Given the description of an element on the screen output the (x, y) to click on. 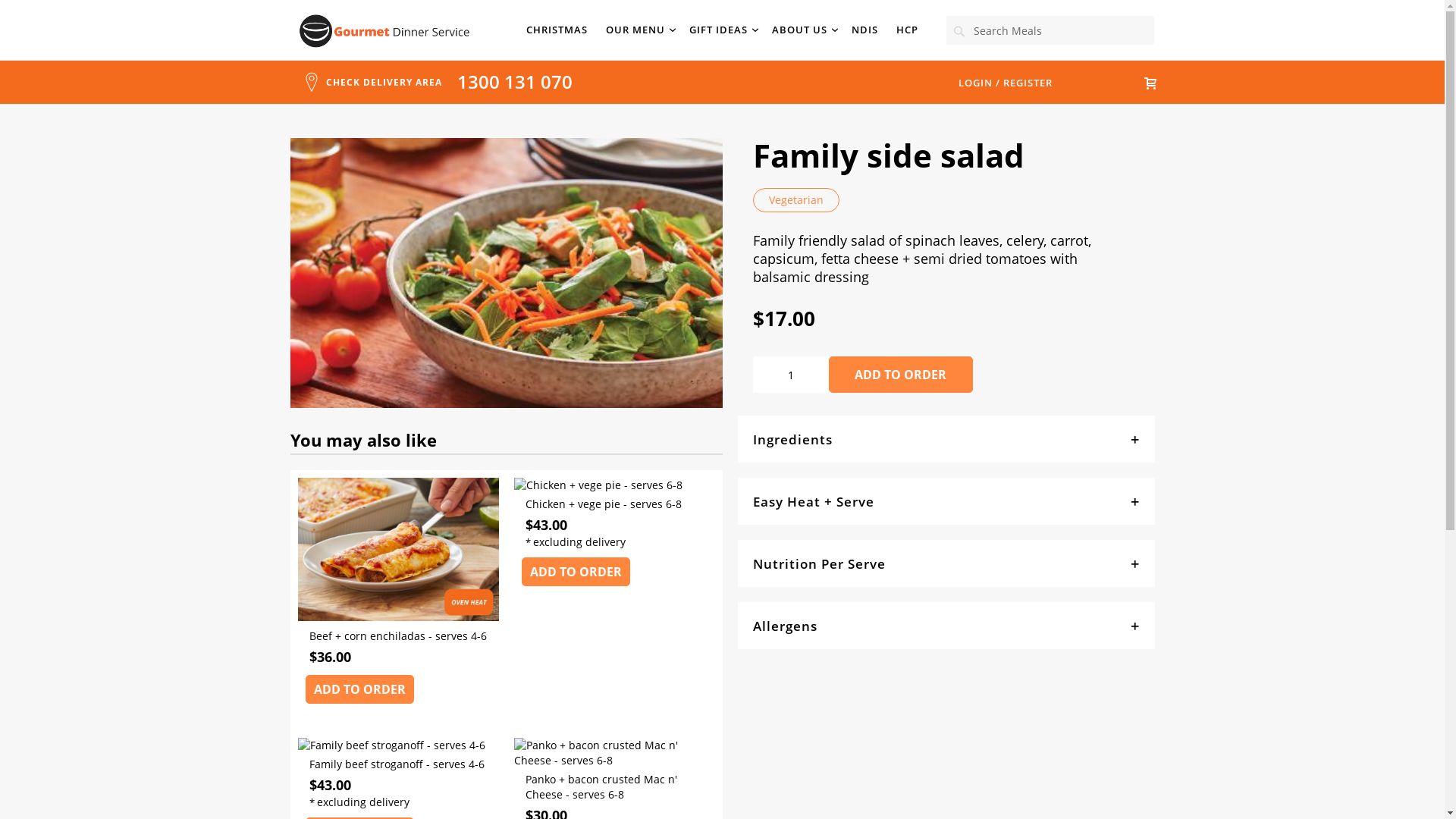
ADD TO ORDER Element type: text (358, 688)
ADD TO ORDER Element type: text (900, 374)
1300 131 070 Element type: text (513, 81)
Chicken + vege pie - serves 6-8 Element type: text (614, 513)
OUR MENU Element type: text (638, 30)
Chicken + vege pie - serves 6-8 Element type: hover (598, 484)
ADD TO ORDER Element type: text (575, 571)
Family beef stroganoff - serves 4-6 Element type: hover (390, 744)
Search Element type: text (959, 30)
Qty Element type: hover (790, 374)
Beef + corn enchiladas - serves 4-6 Element type: text (397, 645)
ABOUT US Element type: text (802, 30)
HCP Element type: text (907, 30)
GIFT IDEAS Element type: text (721, 30)
LOGIN / REGISTER Element type: text (1005, 82)
Gourmet Dinner Service Element type: hover (384, 30)
NDIS Element type: text (864, 30)
Panko + bacon crusted Mac n' Cheese - serves 6-8 Element type: hover (614, 760)
Beef + corn enchiladas - serves 4-6 Element type: hover (397, 616)
CHRISTMAS Element type: text (556, 30)
Family beef stroganoff - serves 4-6 Element type: text (397, 773)
